Given the description of an element on the screen output the (x, y) to click on. 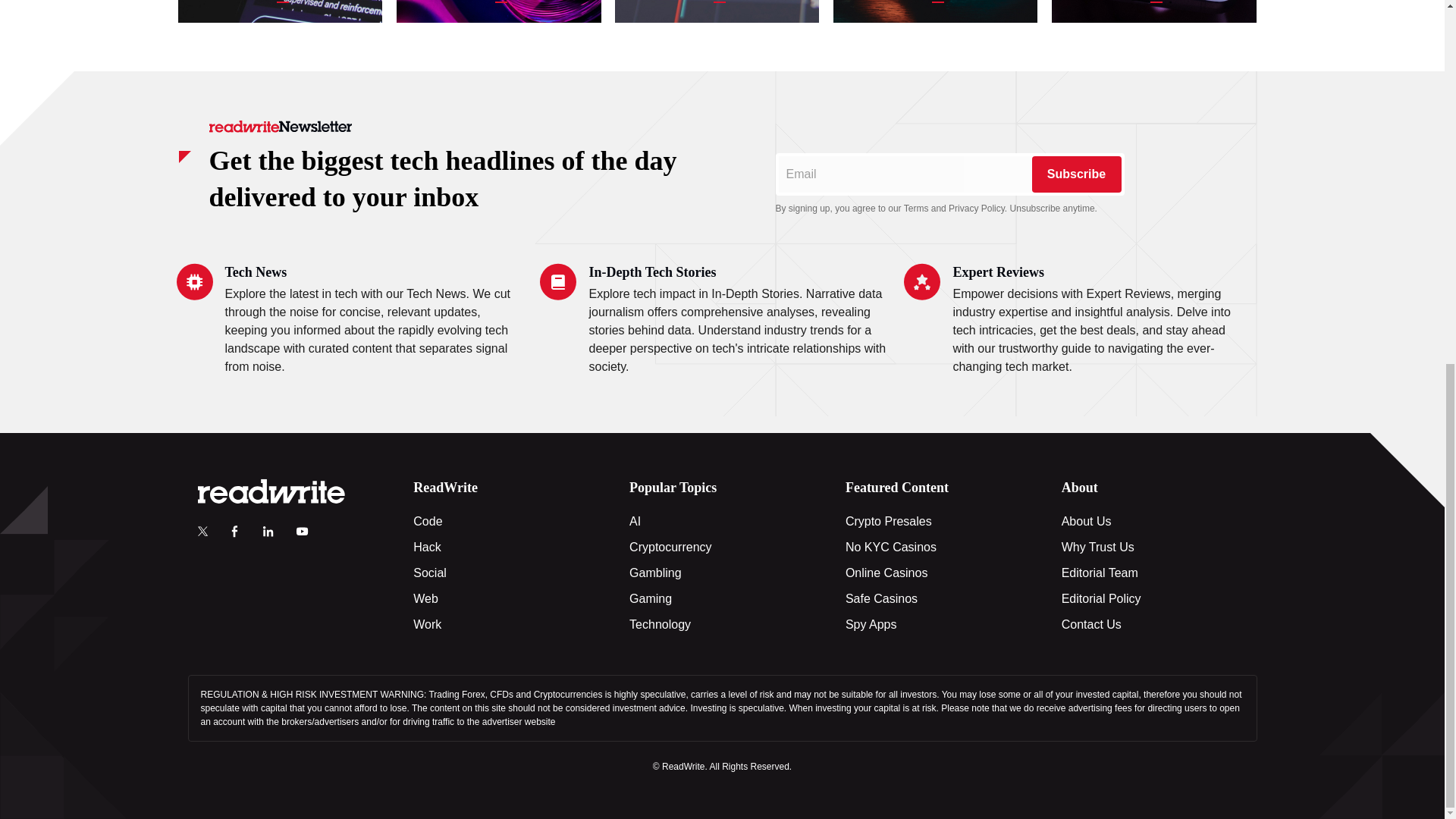
Subscribe (1075, 174)
